Given the description of an element on the screen output the (x, y) to click on. 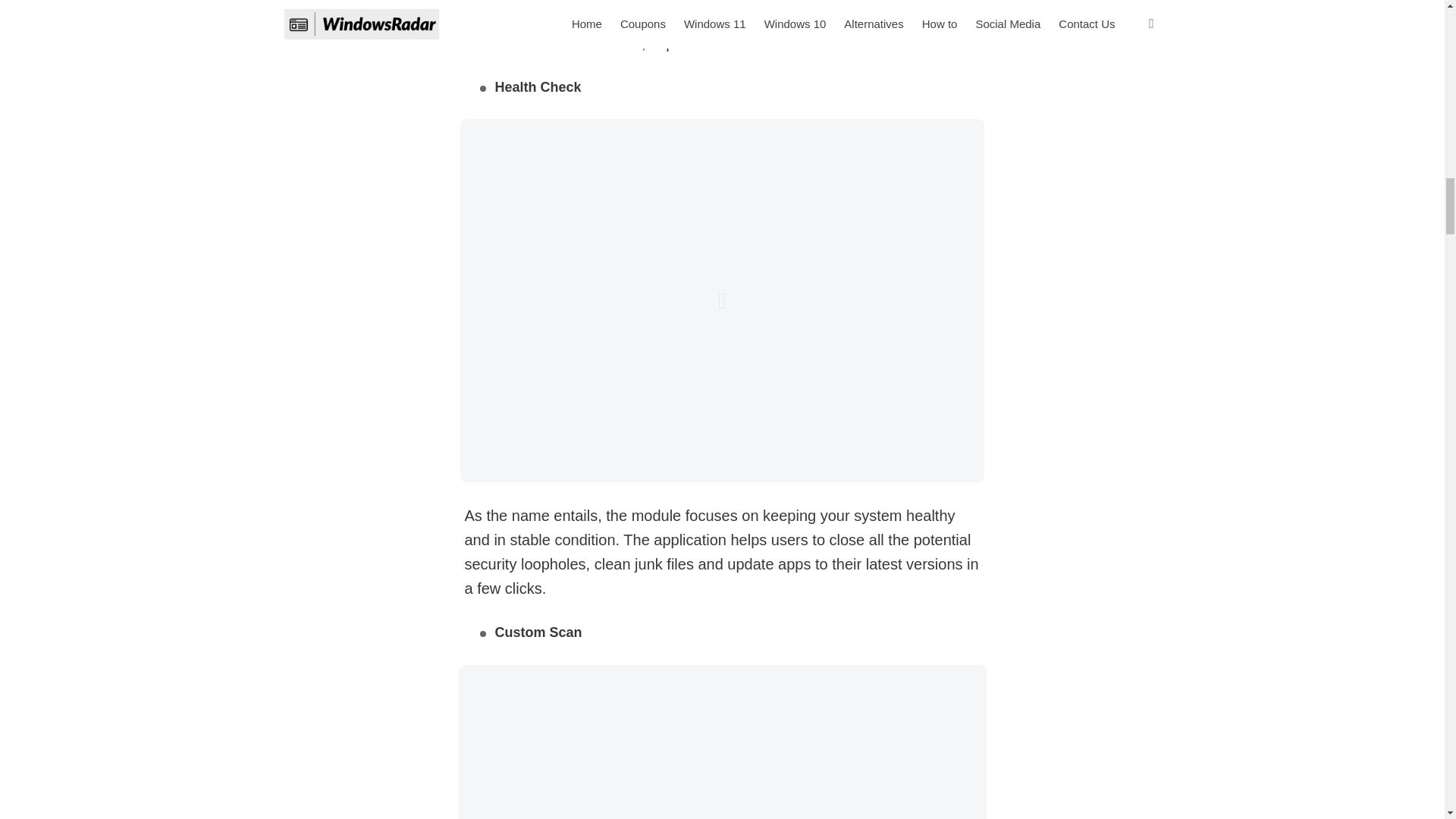
clean junk files (644, 564)
computer cleaning and optimization software (704, 13)
